Given the description of an element on the screen output the (x, y) to click on. 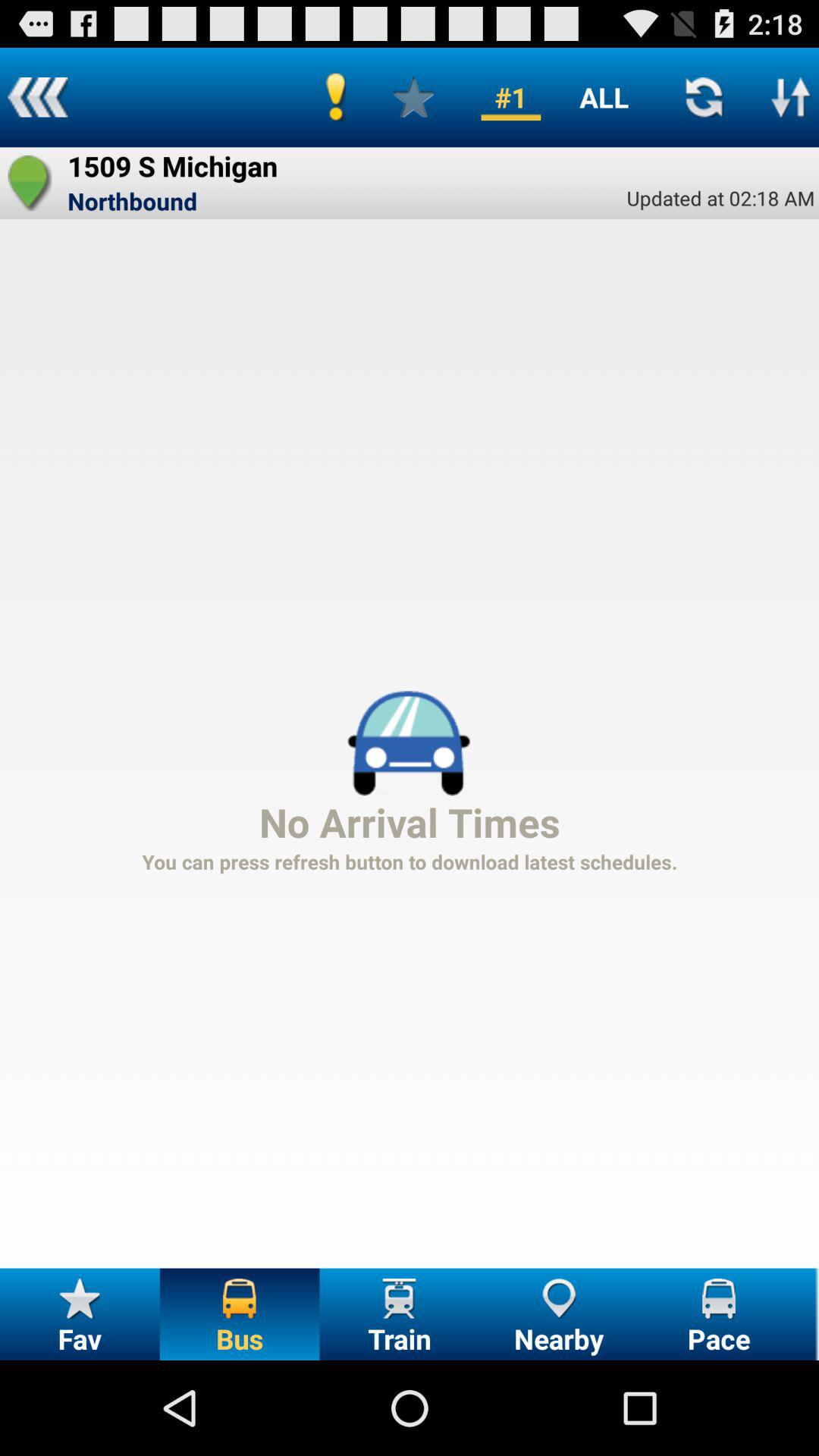
open the button to the left of   #1 (413, 97)
